Given the description of an element on the screen output the (x, y) to click on. 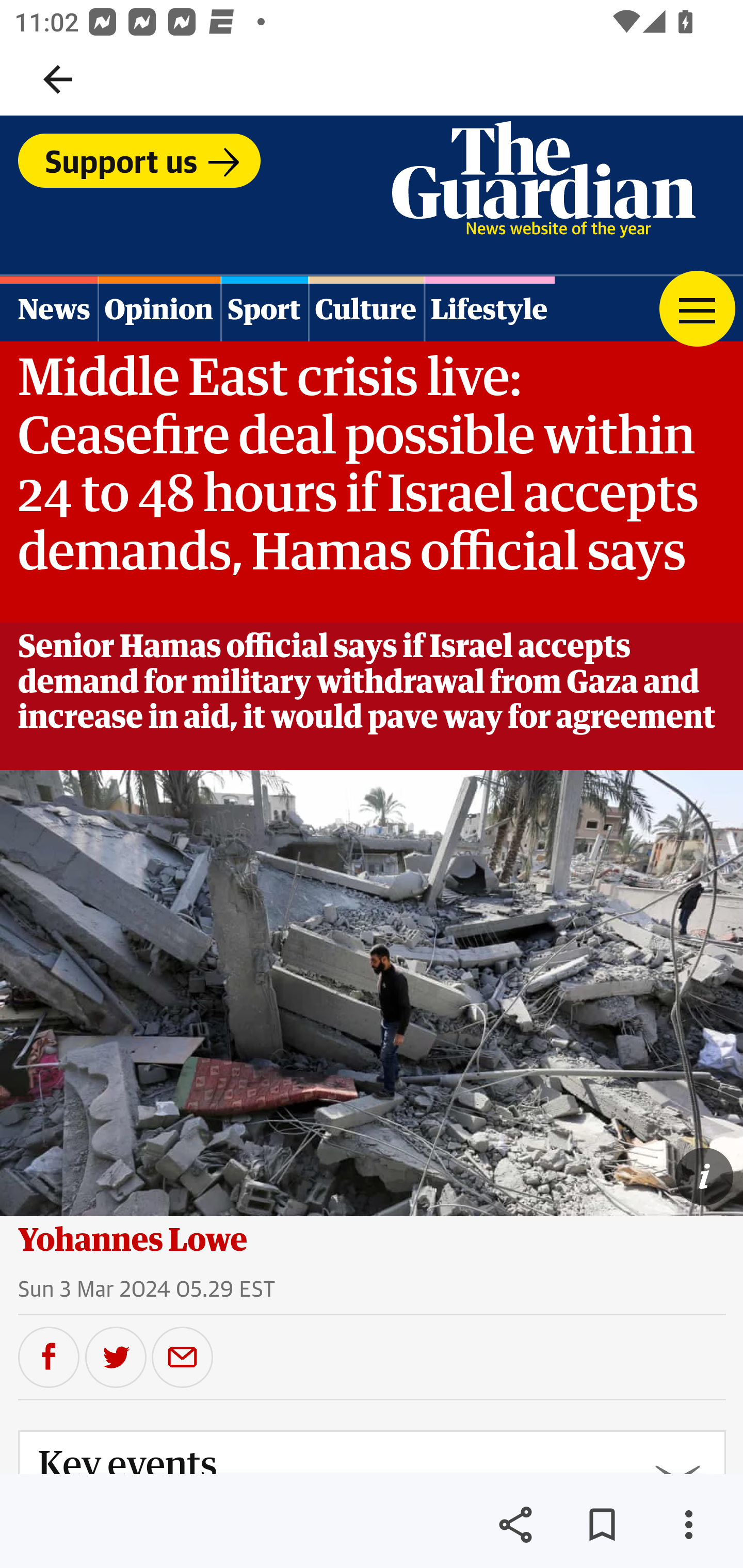
Navigate up (57, 79)
Support us (138, 159)
Toggle main menu (697, 308)
News (49, 308)
Opinion (158, 308)
Sport (264, 308)
Culture (365, 308)
Lifestyle (489, 308)
Yohannes Lowe (132, 1239)
Share on Facebook (48, 1355)
Share on Twitter (115, 1355)
Share via Email (182, 1355)
Share (514, 1524)
Save for later (601, 1524)
More options (688, 1524)
